Given the description of an element on the screen output the (x, y) to click on. 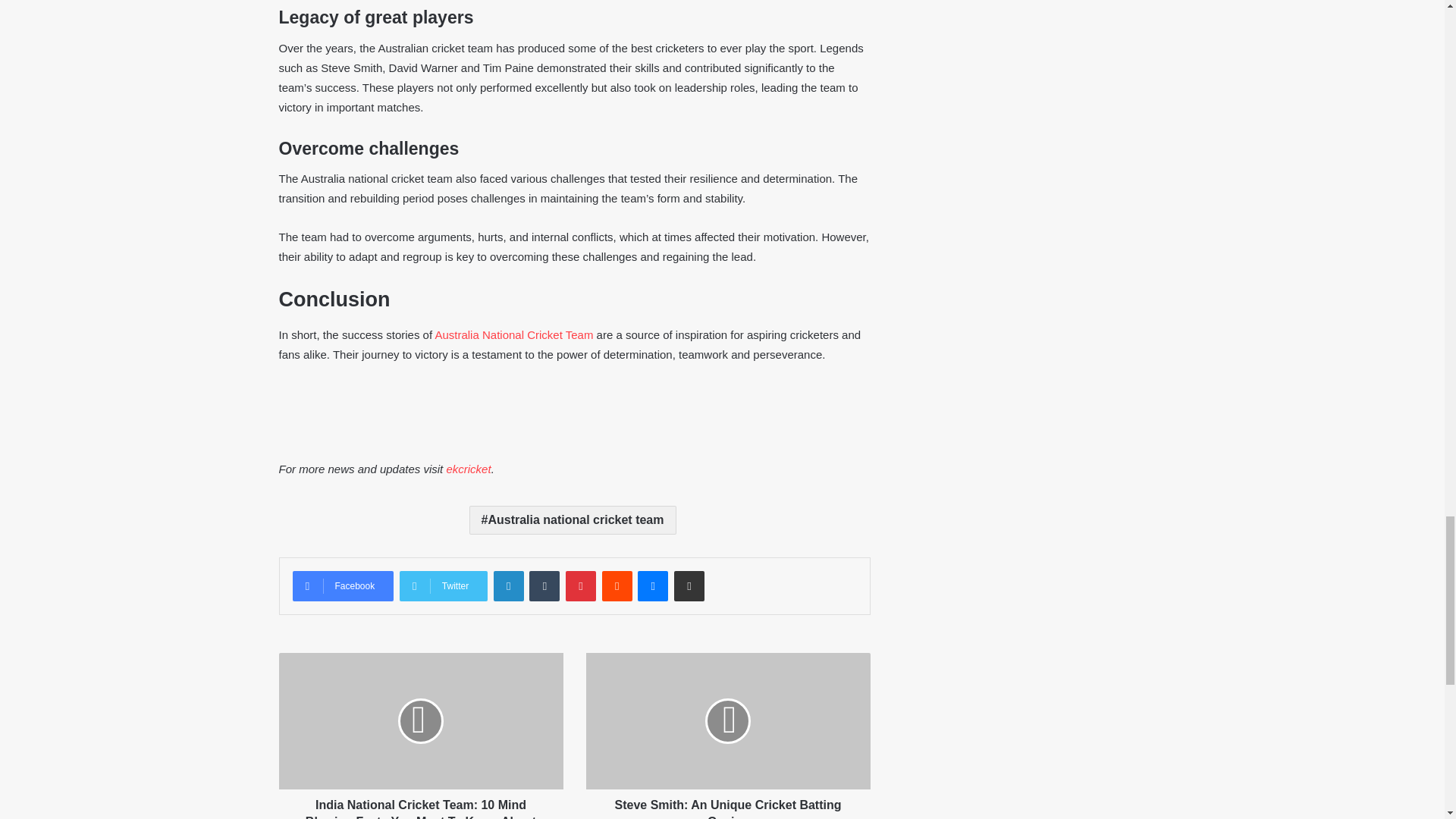
Facebook (343, 585)
Pinterest (580, 585)
LinkedIn (508, 585)
Twitter (442, 585)
Messenger (652, 585)
Tumblr (544, 585)
Reddit (616, 585)
